Given the description of an element on the screen output the (x, y) to click on. 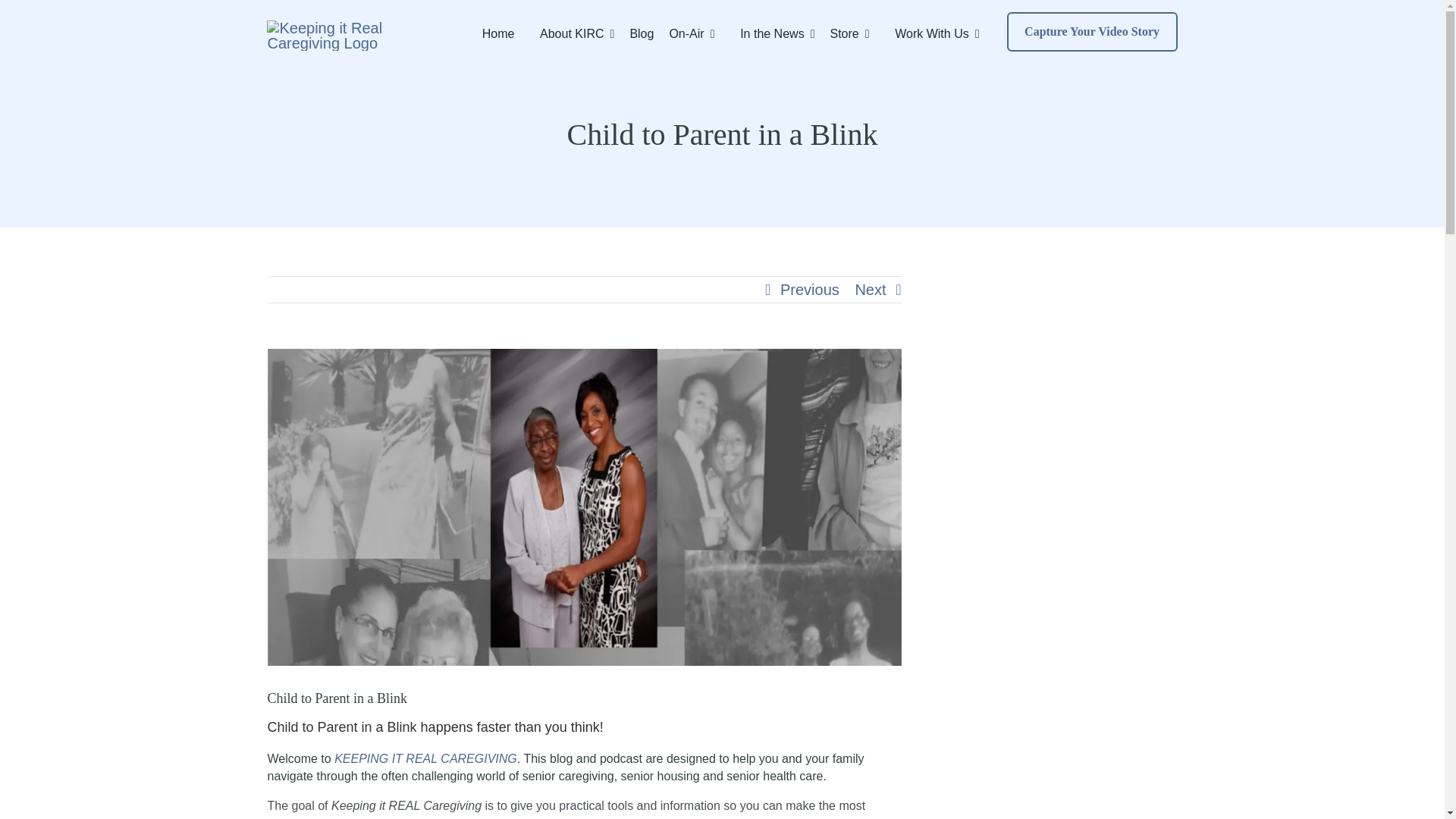
Store (856, 26)
About KIRC (578, 26)
In the News (779, 26)
On-Air (698, 26)
Home (500, 26)
Work With Us (939, 26)
